Given the description of an element on the screen output the (x, y) to click on. 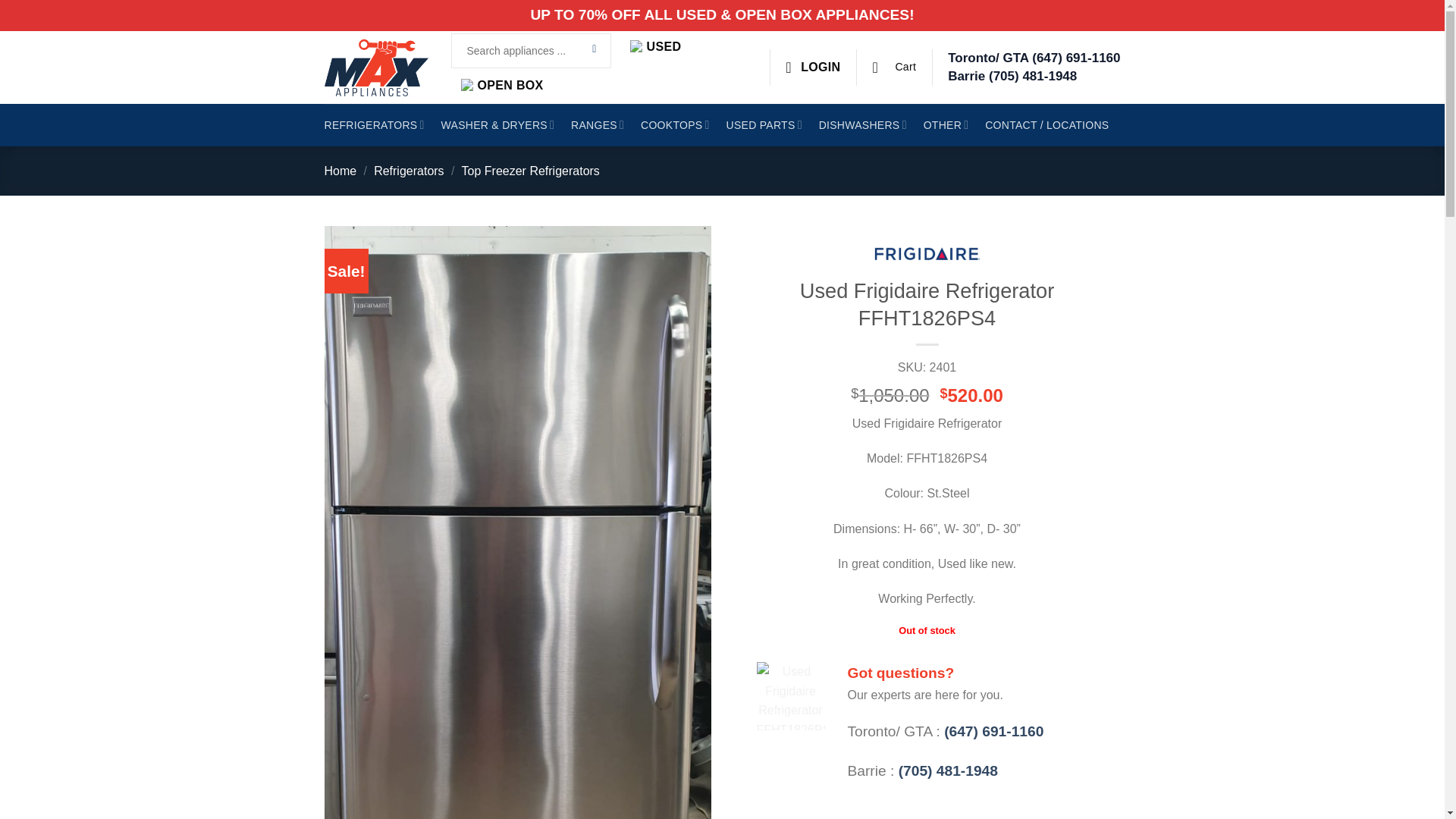
Search (594, 50)
Cart (893, 67)
Max Appliances - Used Appliances Sale (376, 67)
RANGES (597, 125)
Login (813, 67)
REFRIGERATORS (374, 125)
Used Frigidaire Refrigerator FFHT1826PS4 (791, 695)
USED (655, 46)
OPEN BOX (502, 84)
